Given the description of an element on the screen output the (x, y) to click on. 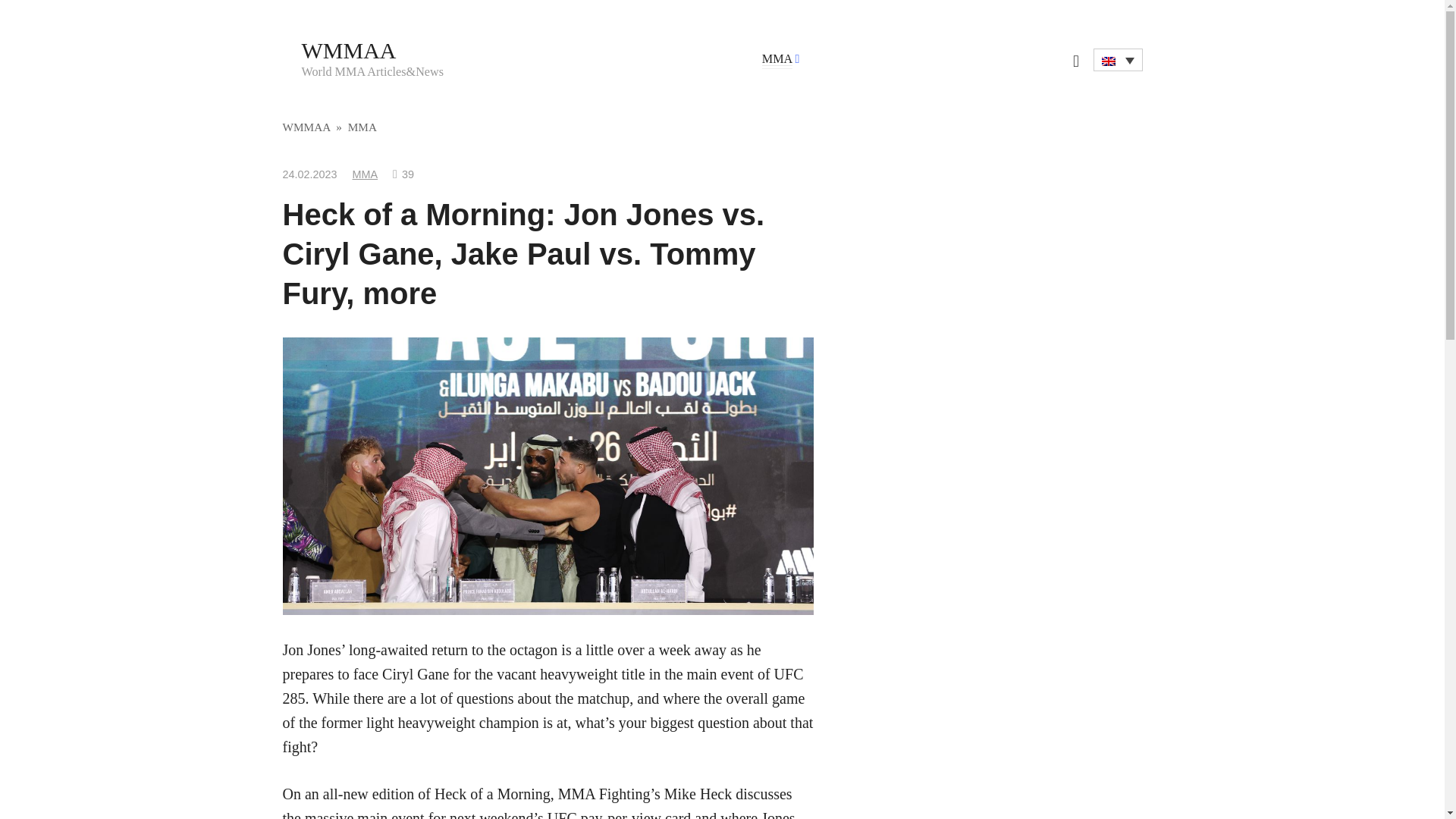
MMA (365, 174)
MMA (776, 59)
MMA (362, 126)
WMMAA (348, 50)
WMMAA (306, 126)
